Given the description of an element on the screen output the (x, y) to click on. 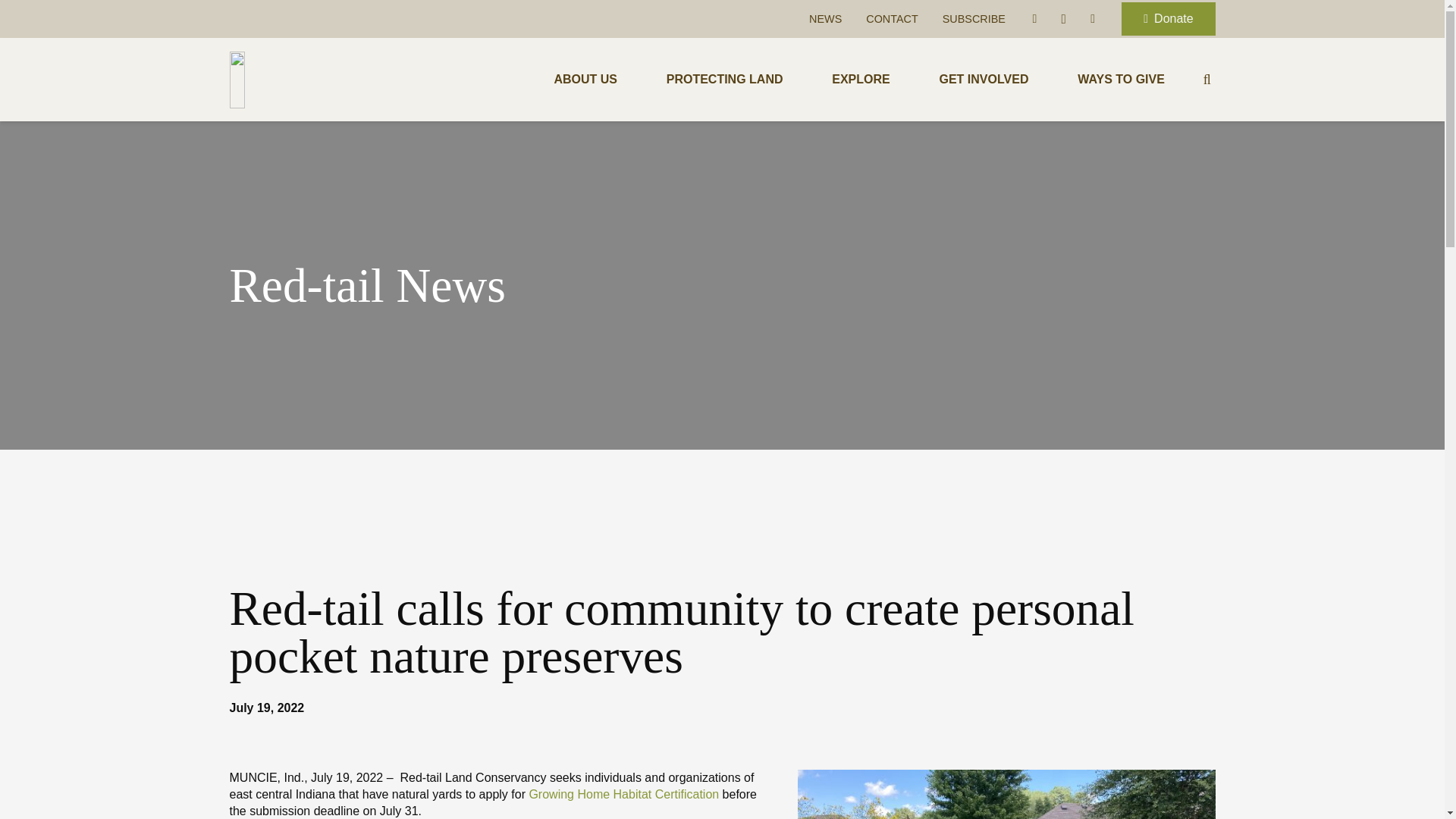
PROTECTING LAND (724, 79)
YouTube (1092, 18)
NEWS (825, 19)
Instagram (1063, 18)
Facebook (1034, 18)
GET INVOLVED (983, 79)
SUBSCRIBE (974, 19)
WAYS TO GIVE (1121, 79)
Growing Home Habitat Certification (623, 793)
Donate (1167, 19)
ABOUT US (585, 79)
CONTACT (891, 19)
